Given the description of an element on the screen output the (x, y) to click on. 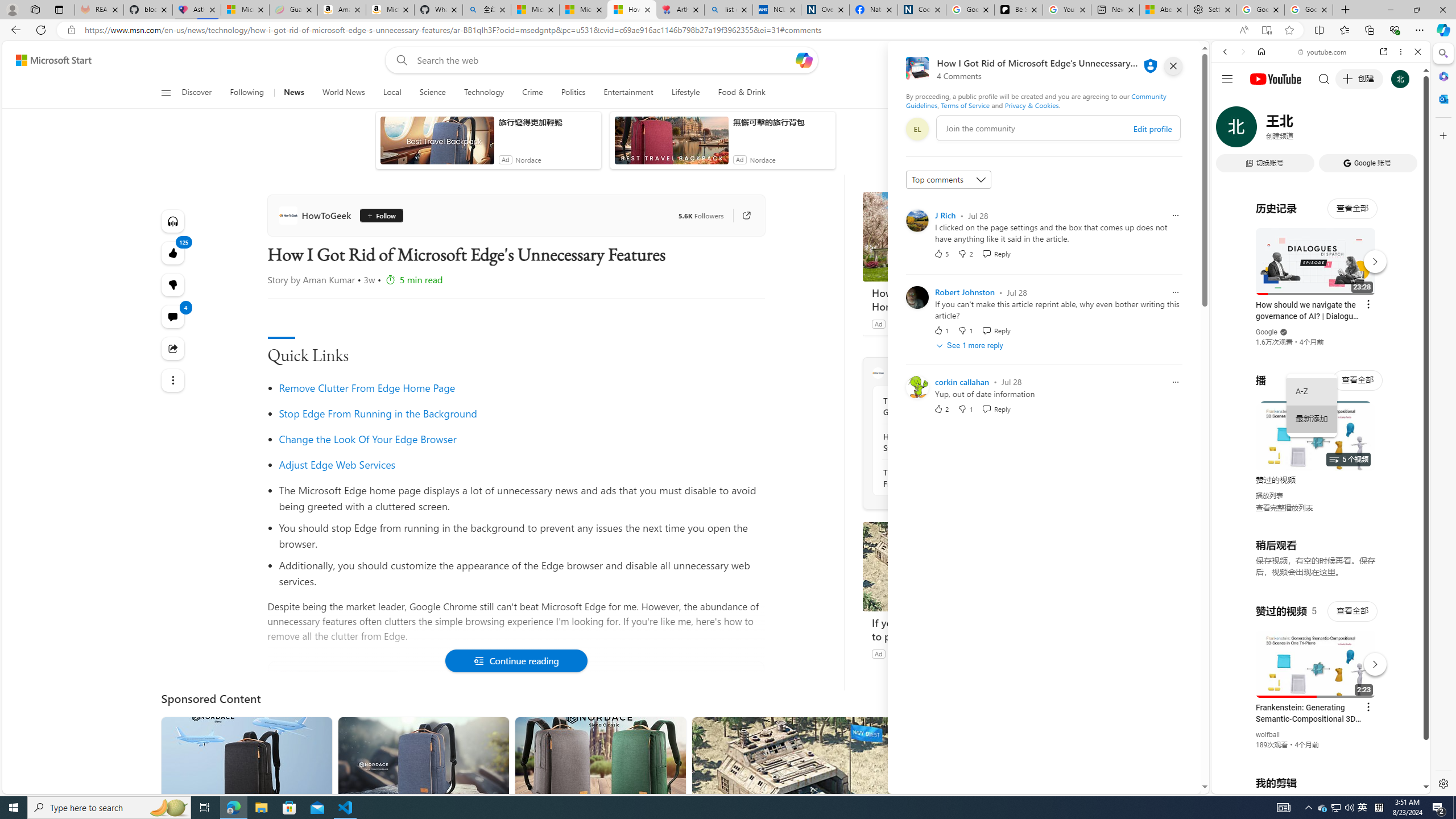
Microsoft rewards (1129, 60)
Enter Immersive Reader (F9) (1266, 29)
Class: at-item (172, 380)
To get missing image descriptions, open the context menu. (983, 92)
1 Like (940, 330)
Technology (483, 92)
Class: dict_pnIcon rms_img (1312, 784)
